Given the description of an element on the screen output the (x, y) to click on. 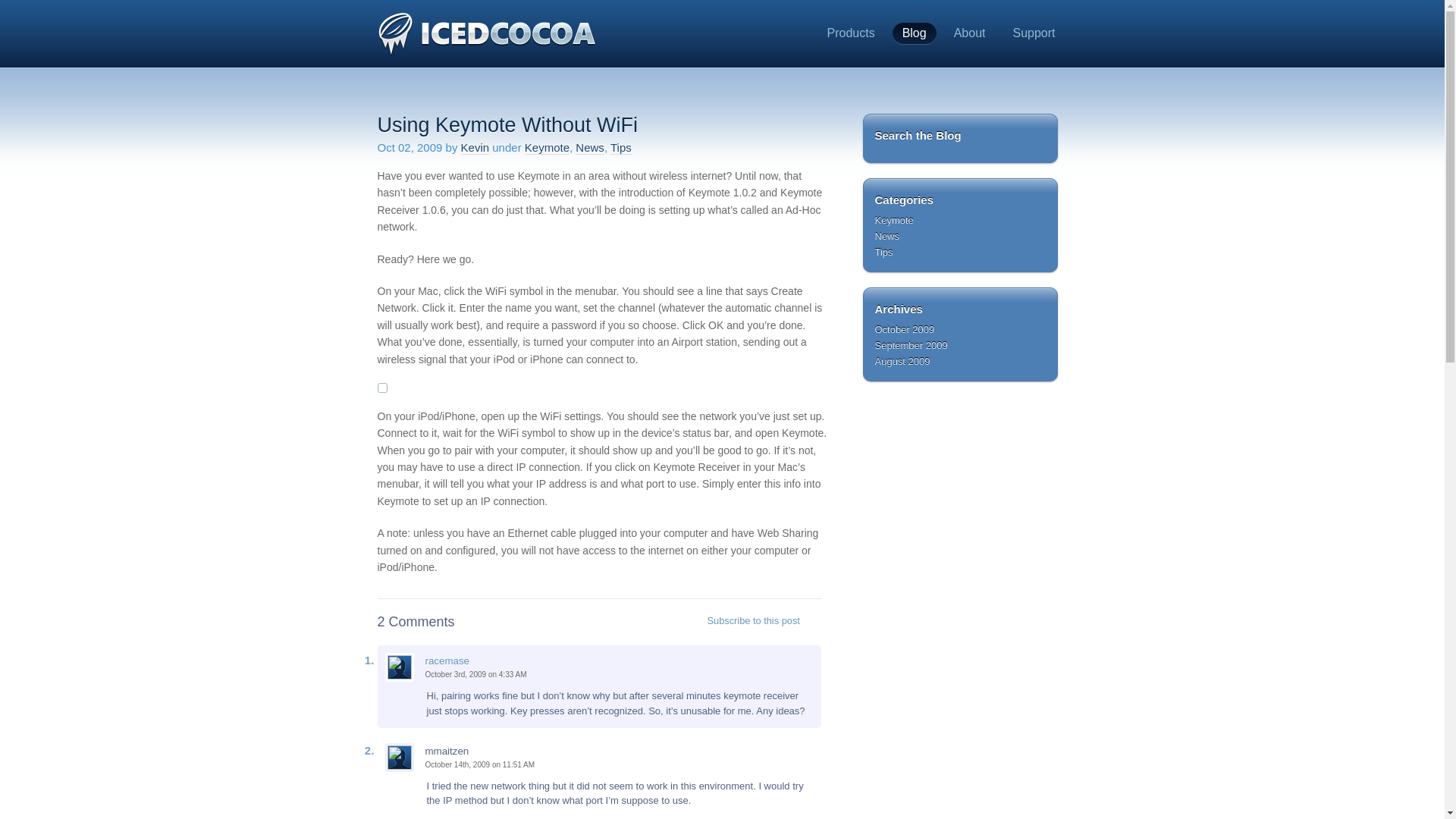
View all posts filed under News (887, 235)
October 2009 (904, 328)
October 3rd, 2009 on 4:33 AM (475, 674)
August 2009 (902, 360)
September 2009 (911, 345)
News (887, 235)
Support (1033, 33)
racemase (446, 660)
View all posts filed under Tips (884, 251)
Keymote (546, 147)
Keymote (894, 220)
Using Keymote Without WiFi (508, 124)
August 2009 (902, 360)
Tips (620, 147)
October 2009 (904, 328)
